Given the description of an element on the screen output the (x, y) to click on. 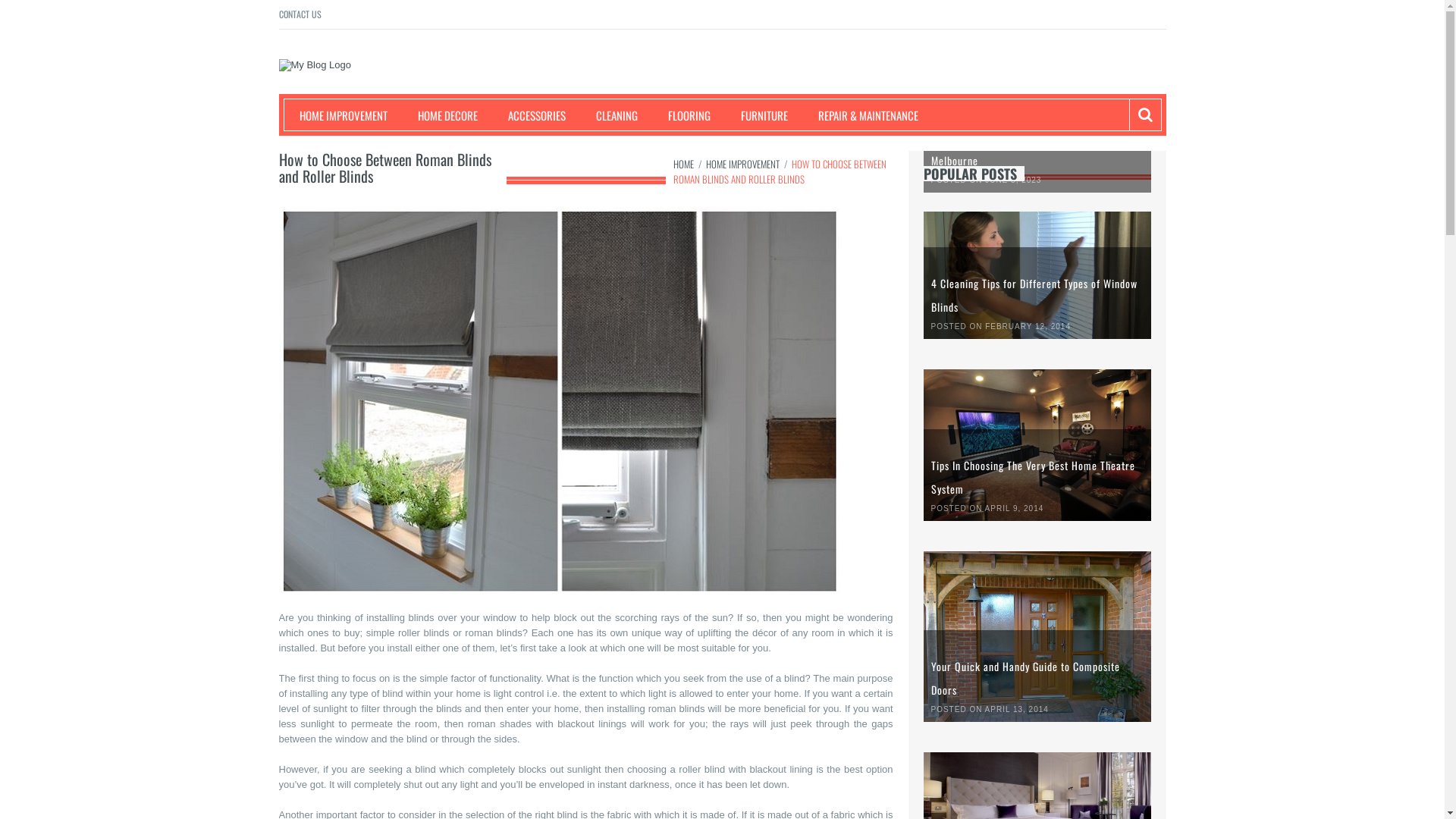
4 Cleaning Tips for Different Types of Window Blinds Element type: text (1034, 294)
HOME IMPROVEMENT Element type: text (741, 163)
CONTACT US Element type: text (300, 14)
HOME IMPROVEMENT Element type: text (334, 114)
A Comprehensive Guide to Cleaning Supplies in Melbourne Element type: text (1036, 148)
CLEANING Element type: text (608, 114)
HOME Element type: text (683, 163)
My Blog Element type: text (314, 98)
FLOORING Element type: text (680, 114)
FURNITURE Element type: text (755, 114)
Your Quick and Handy Guide to Composite Doors Element type: text (1025, 677)
ACCESSORIES Element type: text (528, 114)
REPAIR & MAINTENANCE Element type: text (859, 114)
HOME DECORE Element type: text (438, 114)
Tips In Choosing The Very Best Home Theatre System Element type: text (1033, 476)
